Given the description of an element on the screen output the (x, y) to click on. 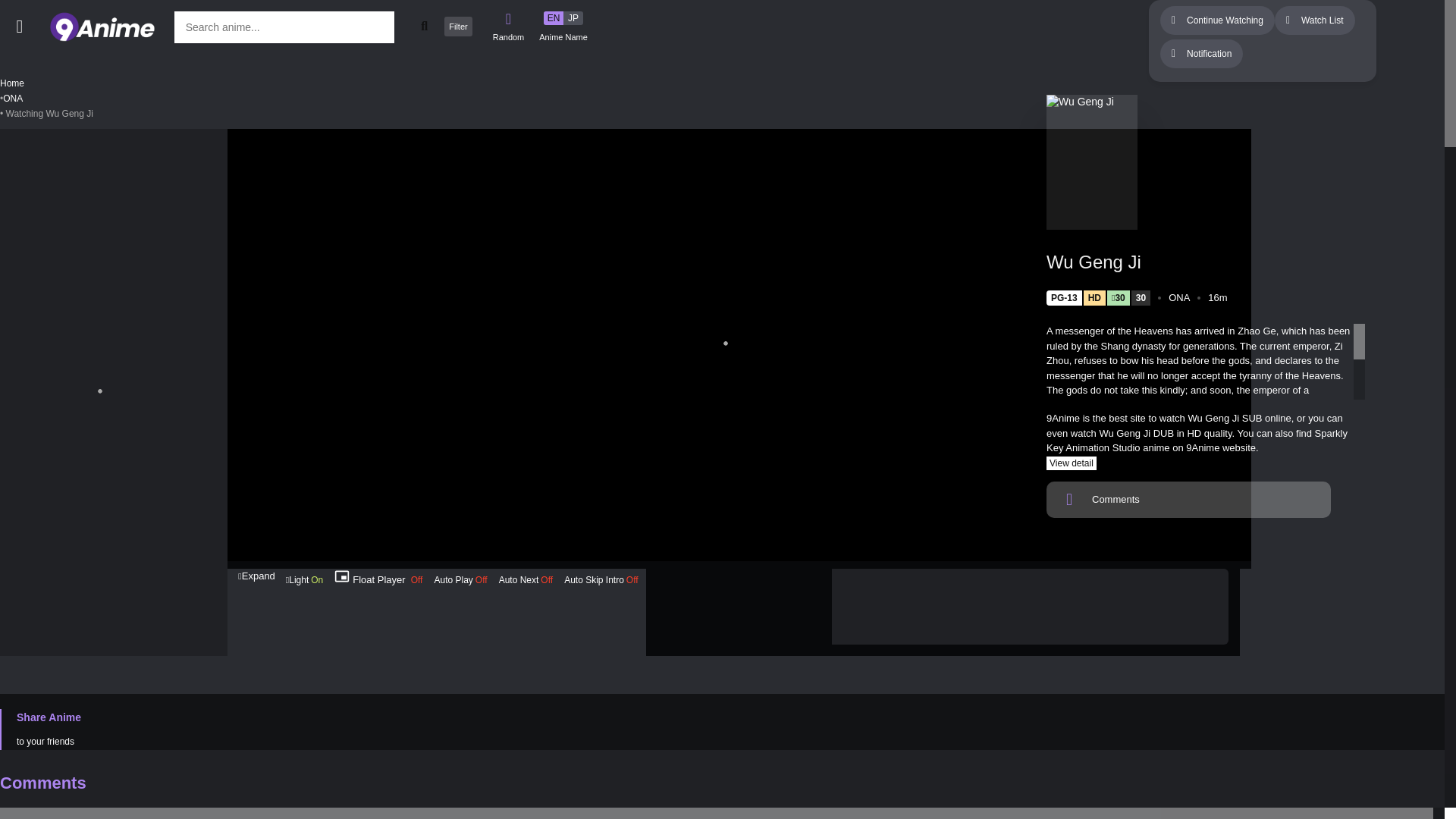
Select language of anime name to display. (563, 26)
